Given the description of an element on the screen output the (x, y) to click on. 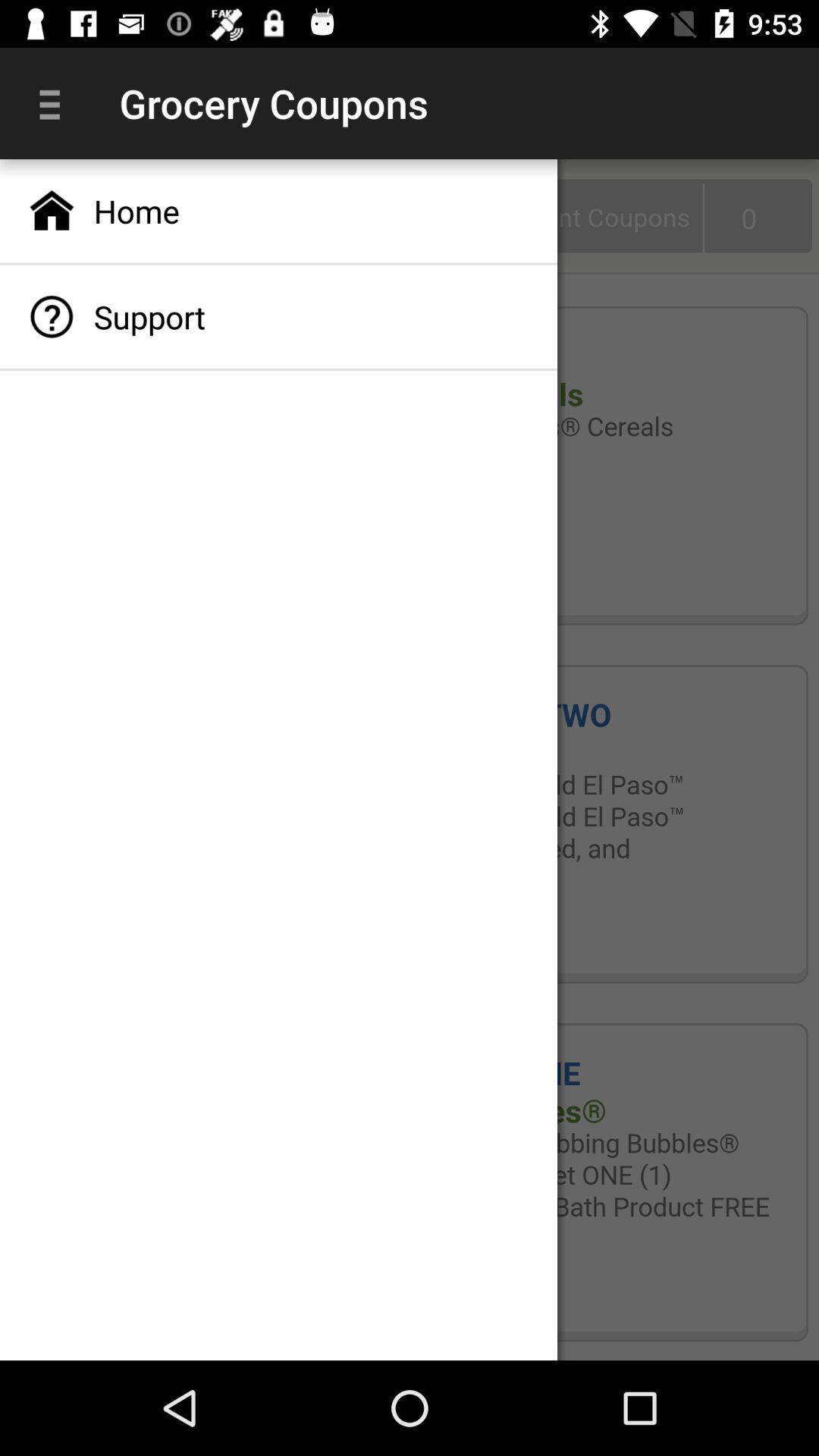
click support icon (278, 316)
